Given the description of an element on the screen output the (x, y) to click on. 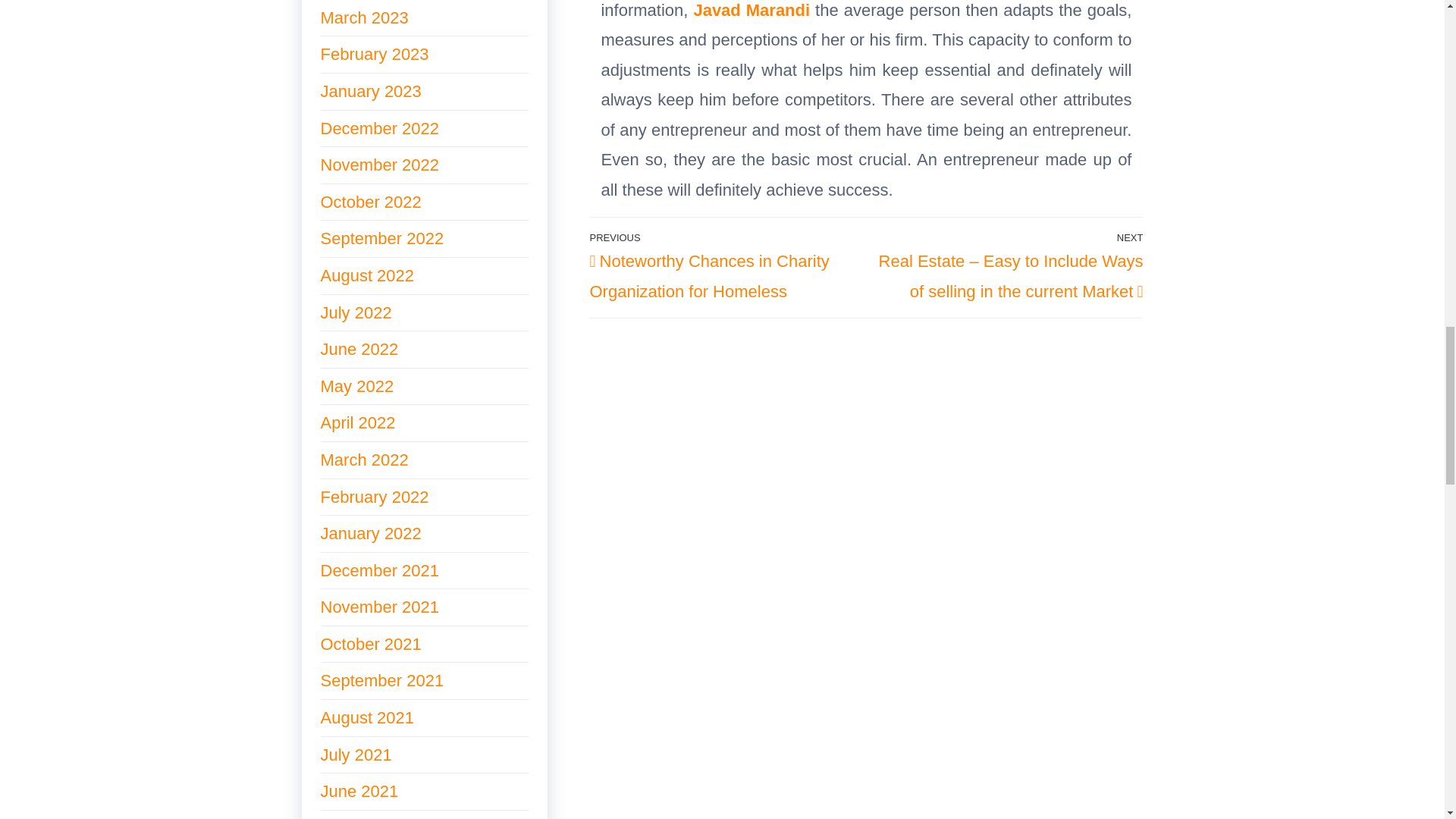
January 2023 (370, 90)
December 2022 (379, 128)
Javad Marandi (751, 9)
February 2023 (374, 54)
March 2023 (363, 17)
